Given the description of an element on the screen output the (x, y) to click on. 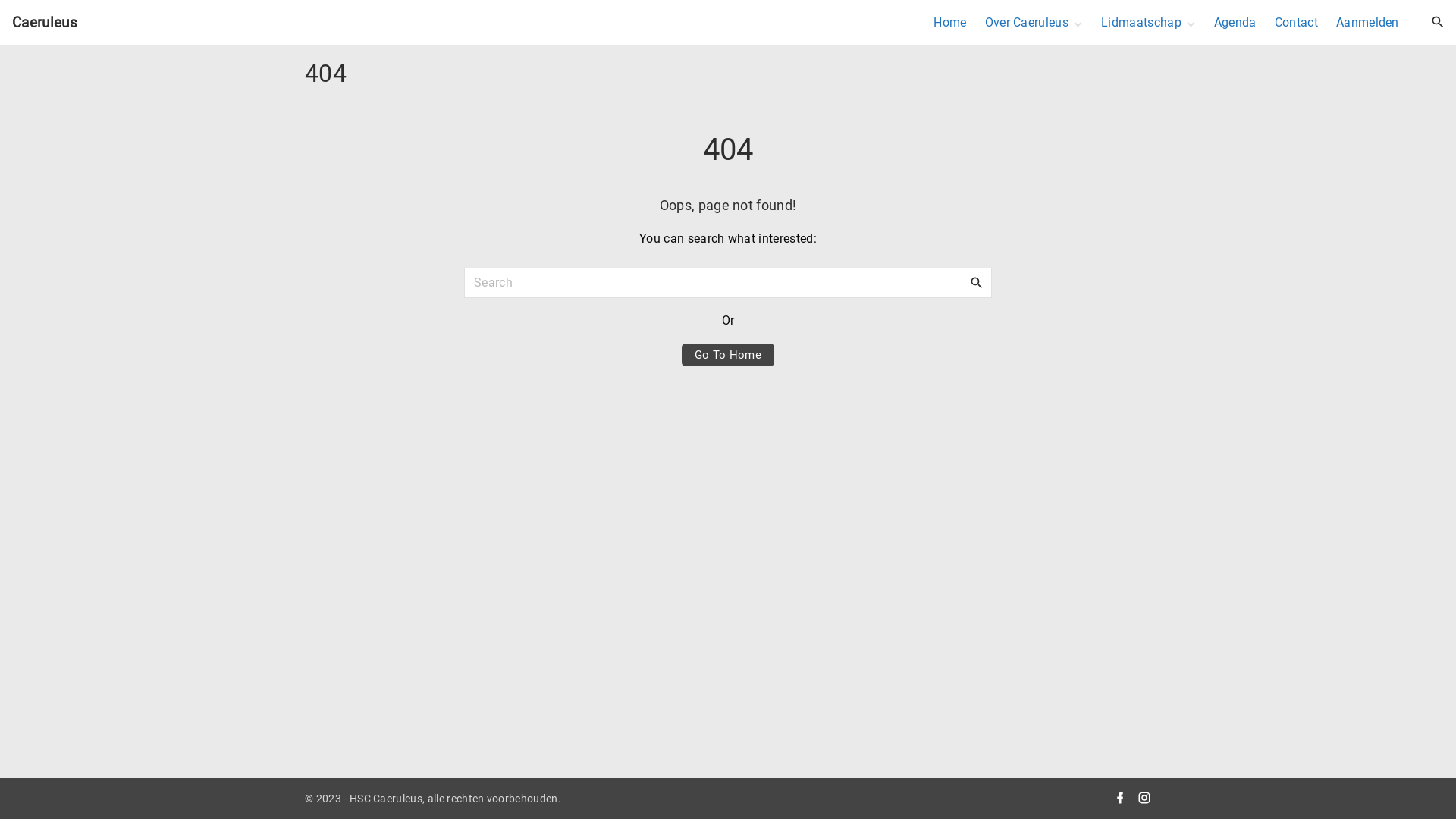
instagram Element type: text (1144, 798)
Go To Home Element type: text (727, 355)
Over Caeruleus Element type: text (1027, 22)
Aanmelden Element type: text (1367, 22)
Home Element type: text (949, 22)
facebook Element type: text (1119, 798)
Contact Element type: text (1295, 22)
Caeruleus Element type: text (44, 22)
Lidmaatschap Element type: text (1141, 22)
Agenda Element type: text (1235, 22)
Search Element type: text (976, 281)
